Given the description of an element on the screen output the (x, y) to click on. 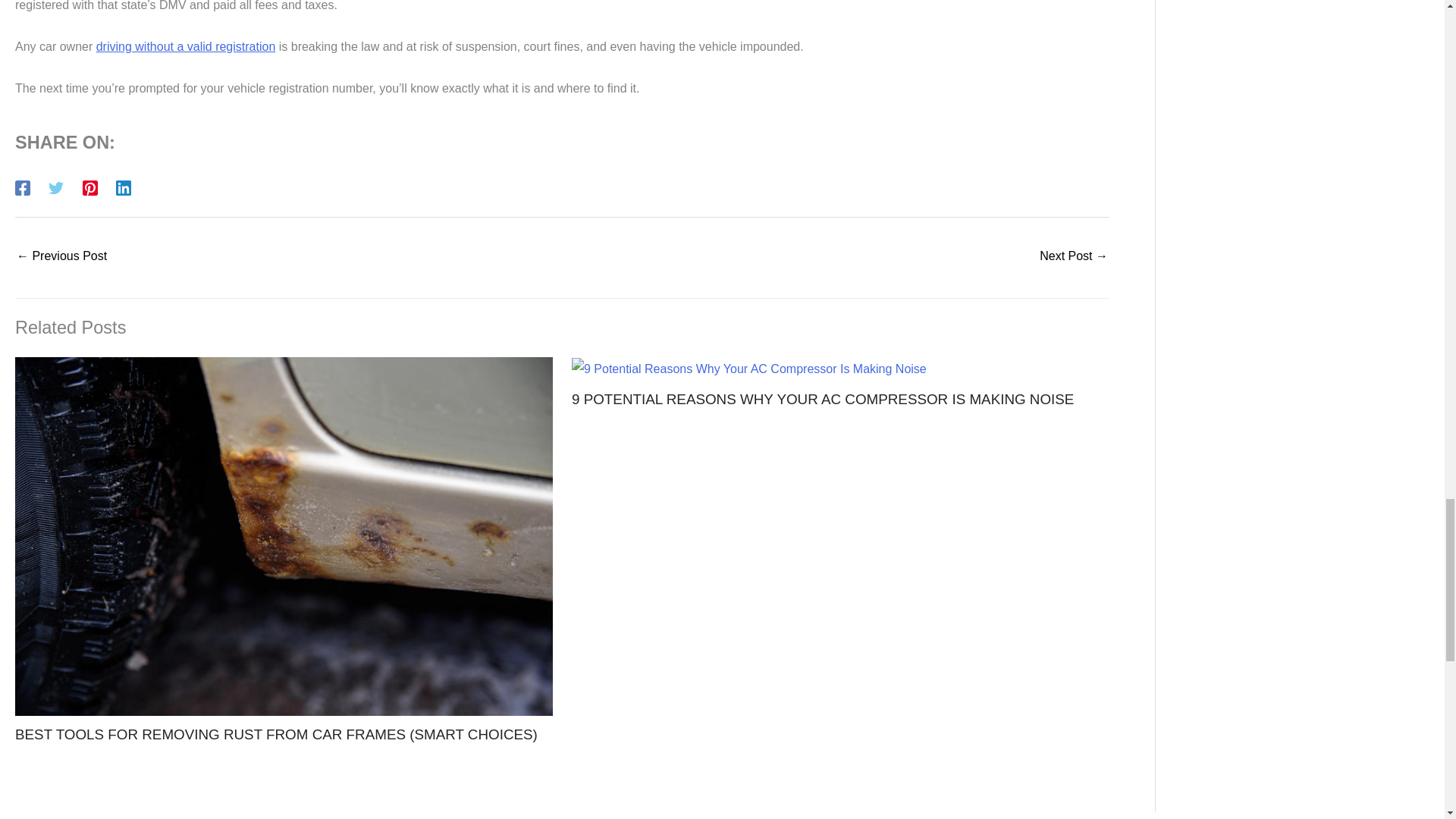
Can You Push Start an Automatic Car With a Dead Battery? (61, 257)
driving without a valid registration (186, 46)
How to Fix a Seatbelt That Is Stuck (1073, 257)
